Given the description of an element on the screen output the (x, y) to click on. 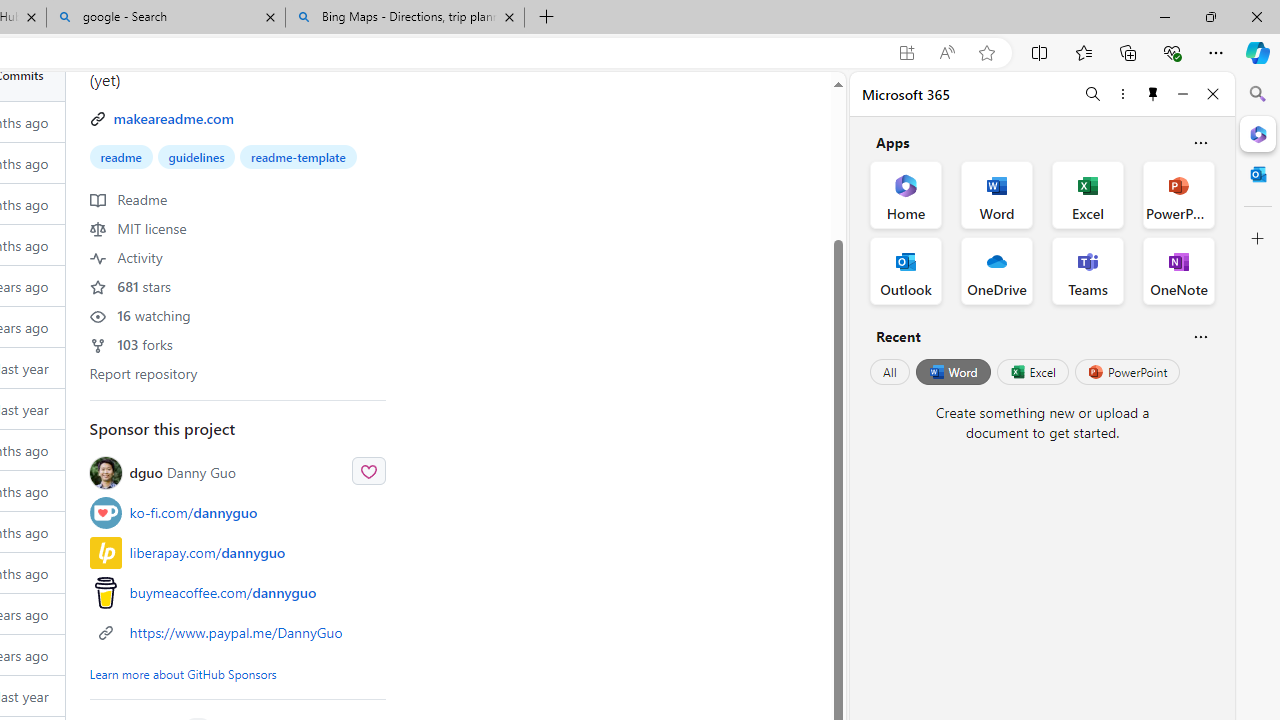
Excel (1031, 372)
 Readme (128, 198)
Minimize (1182, 93)
dguo Danny Guo (182, 472)
Customize (1258, 239)
Search (1258, 94)
Word (952, 372)
buymeacoffee.com/dannyguo (223, 593)
Learn more about GitHub Sponsors (182, 673)
guidelines (196, 156)
@dguo (105, 471)
Copilot (Ctrl+Shift+.) (1258, 52)
PowerPoint Office App (1178, 194)
Add this page to favorites (Ctrl+D) (986, 53)
